Given the description of an element on the screen output the (x, y) to click on. 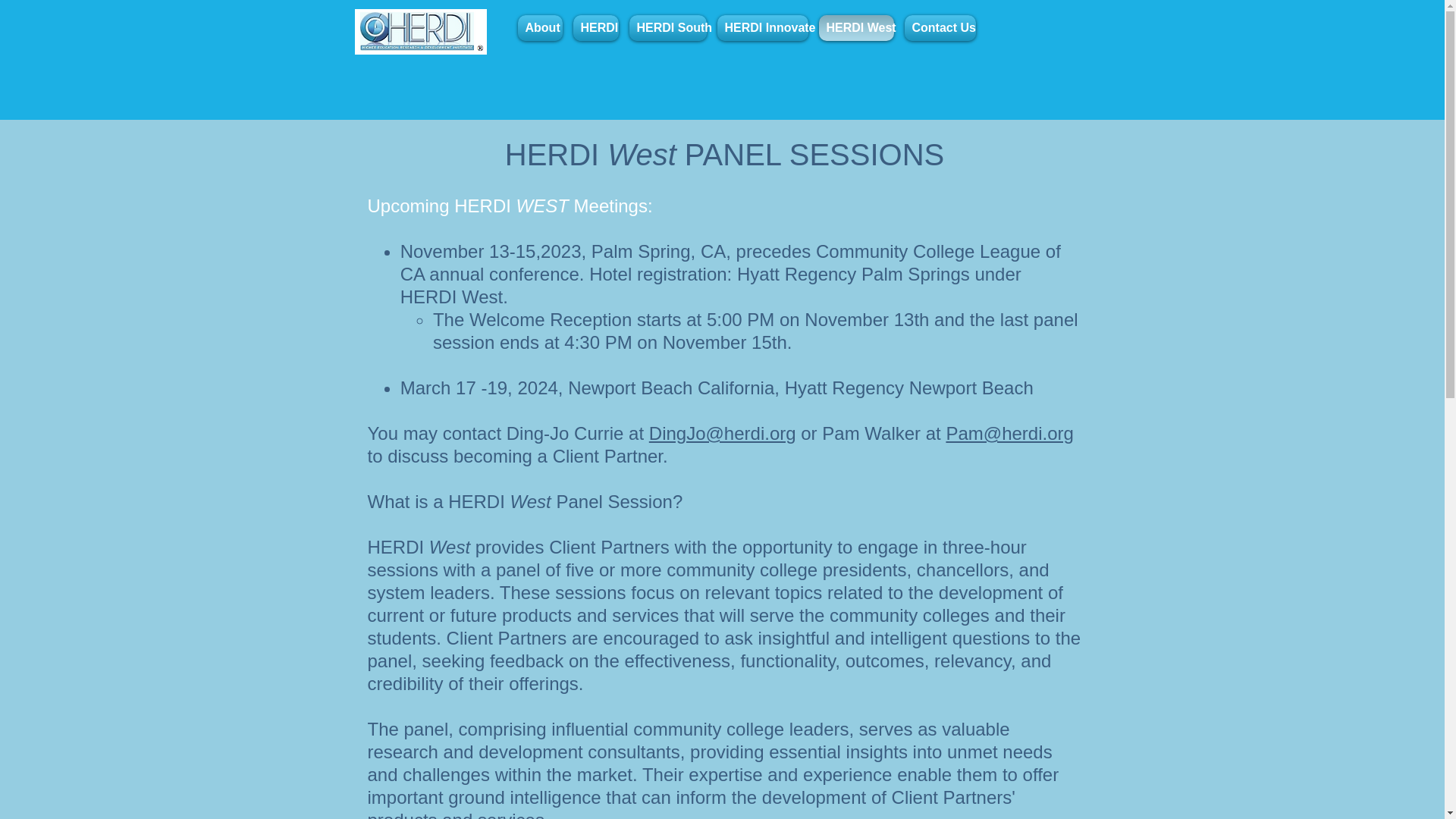
HERDI (595, 27)
Contact Us (940, 27)
HERDI West (855, 27)
HERDI South (667, 27)
HERDI Innovate (761, 27)
About (541, 27)
